Given the description of an element on the screen output the (x, y) to click on. 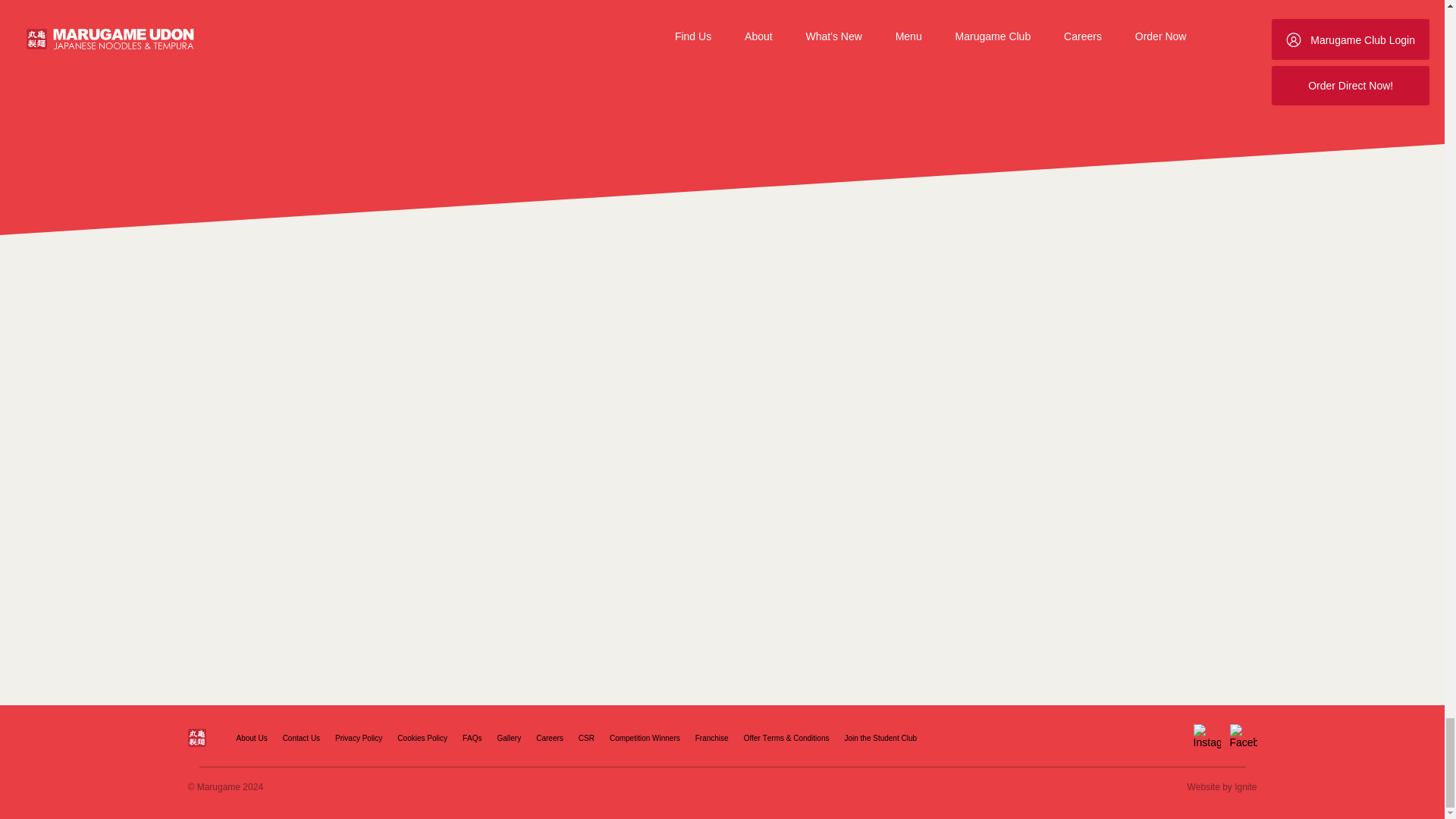
Cookies Policy (421, 737)
FAQs (472, 737)
Contact Us (301, 737)
Franchise (712, 737)
Careers (549, 737)
CSR (586, 737)
Privacy Policy (357, 737)
About Us (251, 737)
Competition Winners (644, 737)
Website by Ignite (1221, 787)
